Given the description of an element on the screen output the (x, y) to click on. 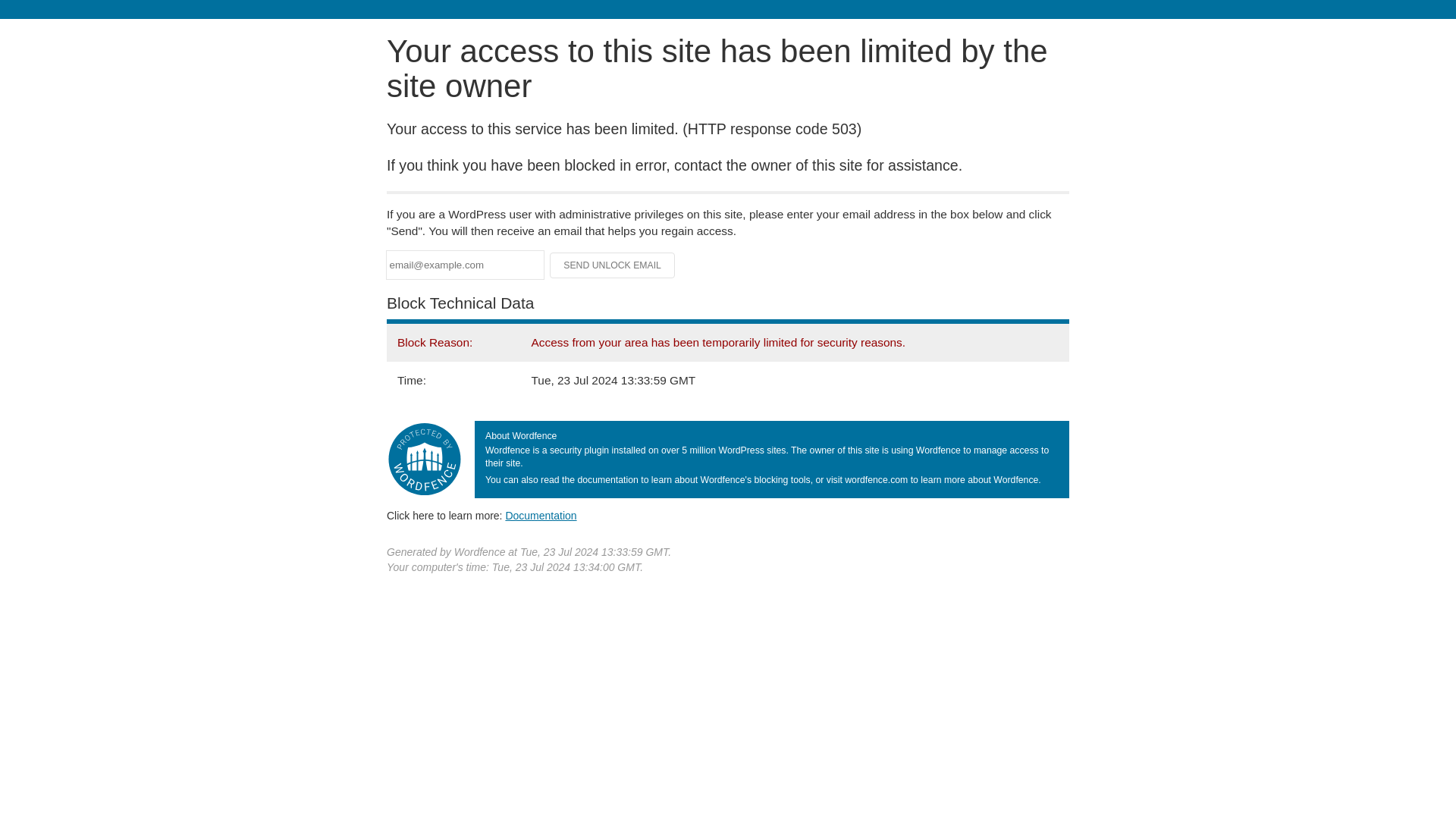
Send Unlock Email (612, 265)
Documentation (540, 515)
Send Unlock Email (612, 265)
